Given the description of an element on the screen output the (x, y) to click on. 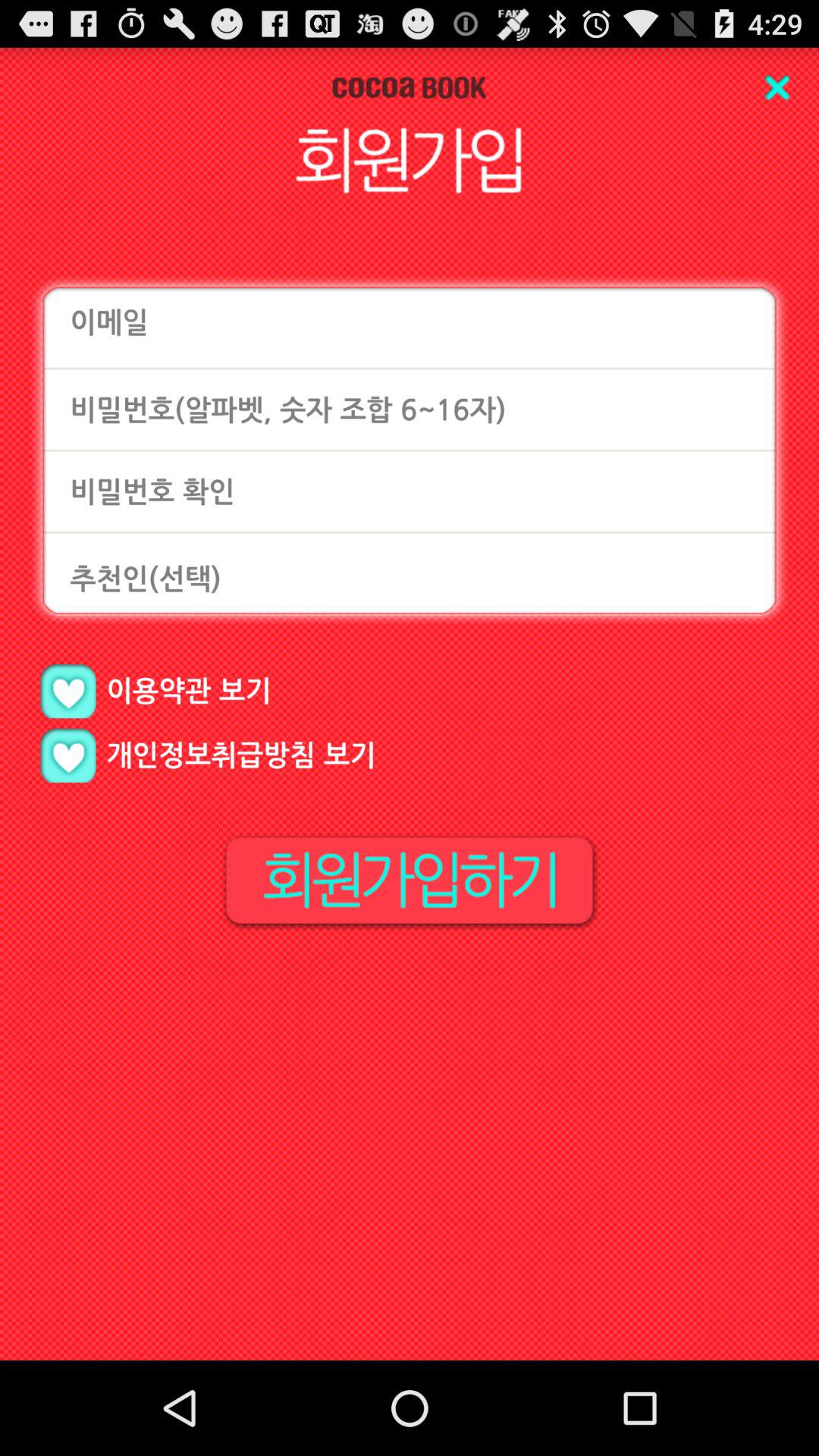
close entry (777, 87)
